Given the description of an element on the screen output the (x, y) to click on. 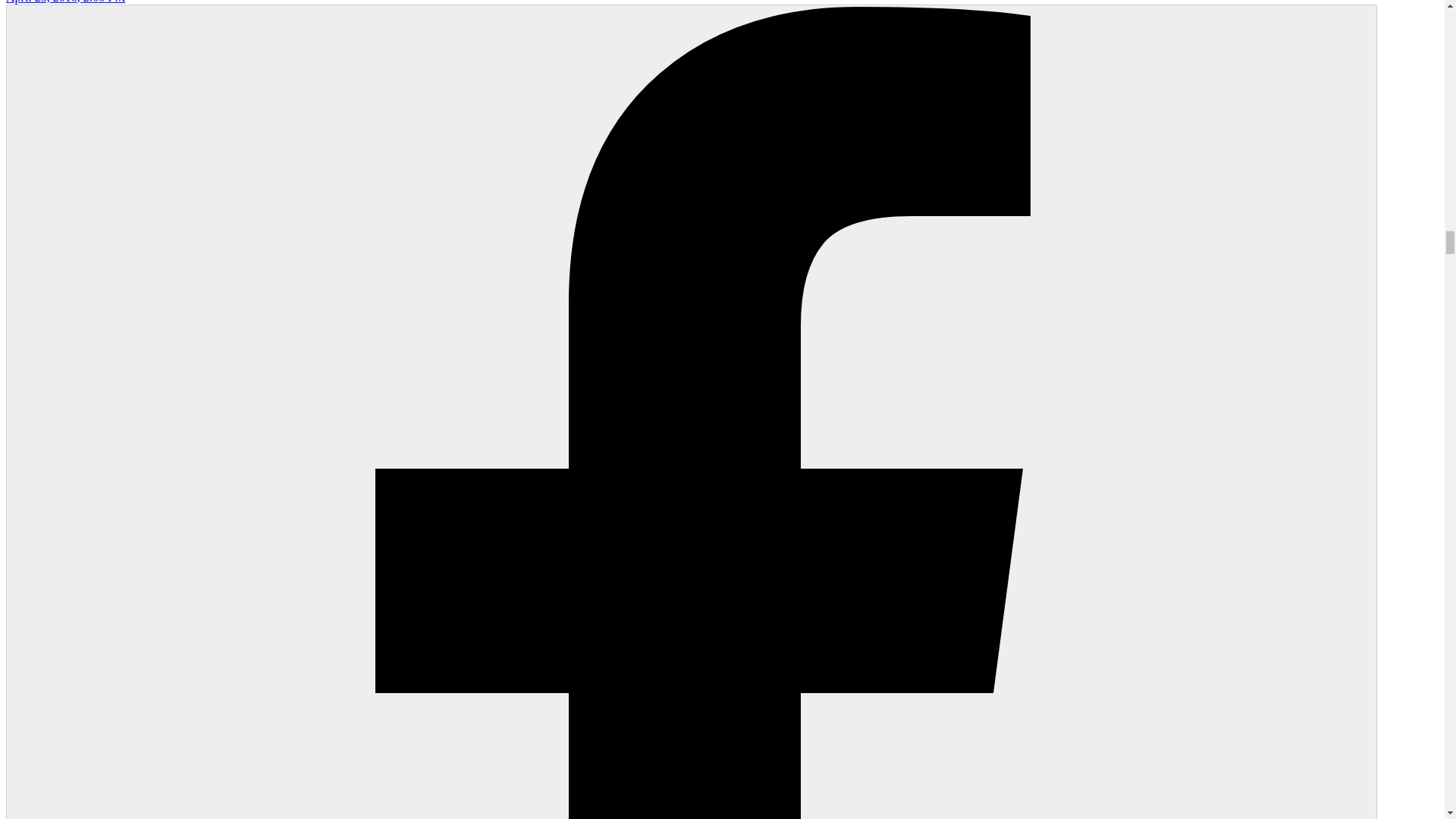
April 23, 2016, 2:00 PM (65, 2)
